Given the description of an element on the screen output the (x, y) to click on. 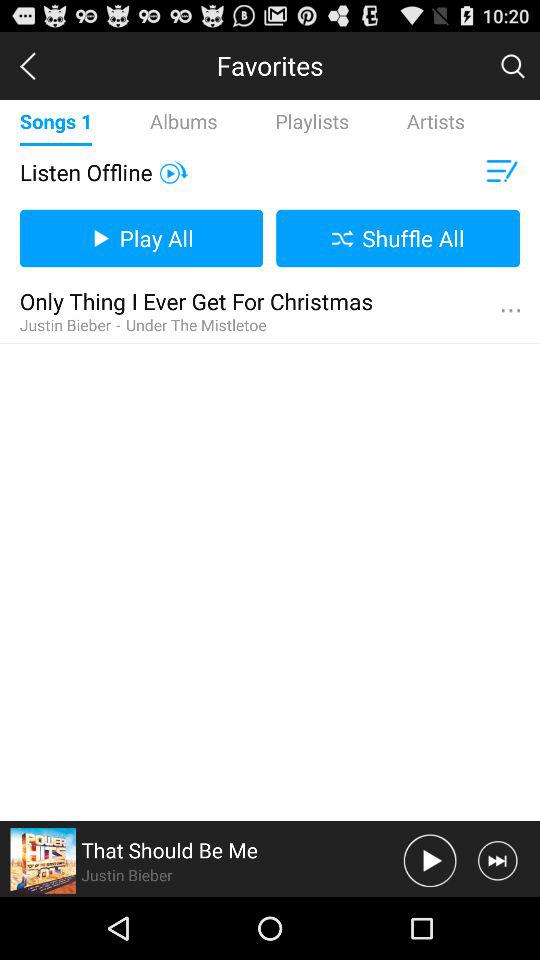
play song (429, 860)
